Given the description of an element on the screen output the (x, y) to click on. 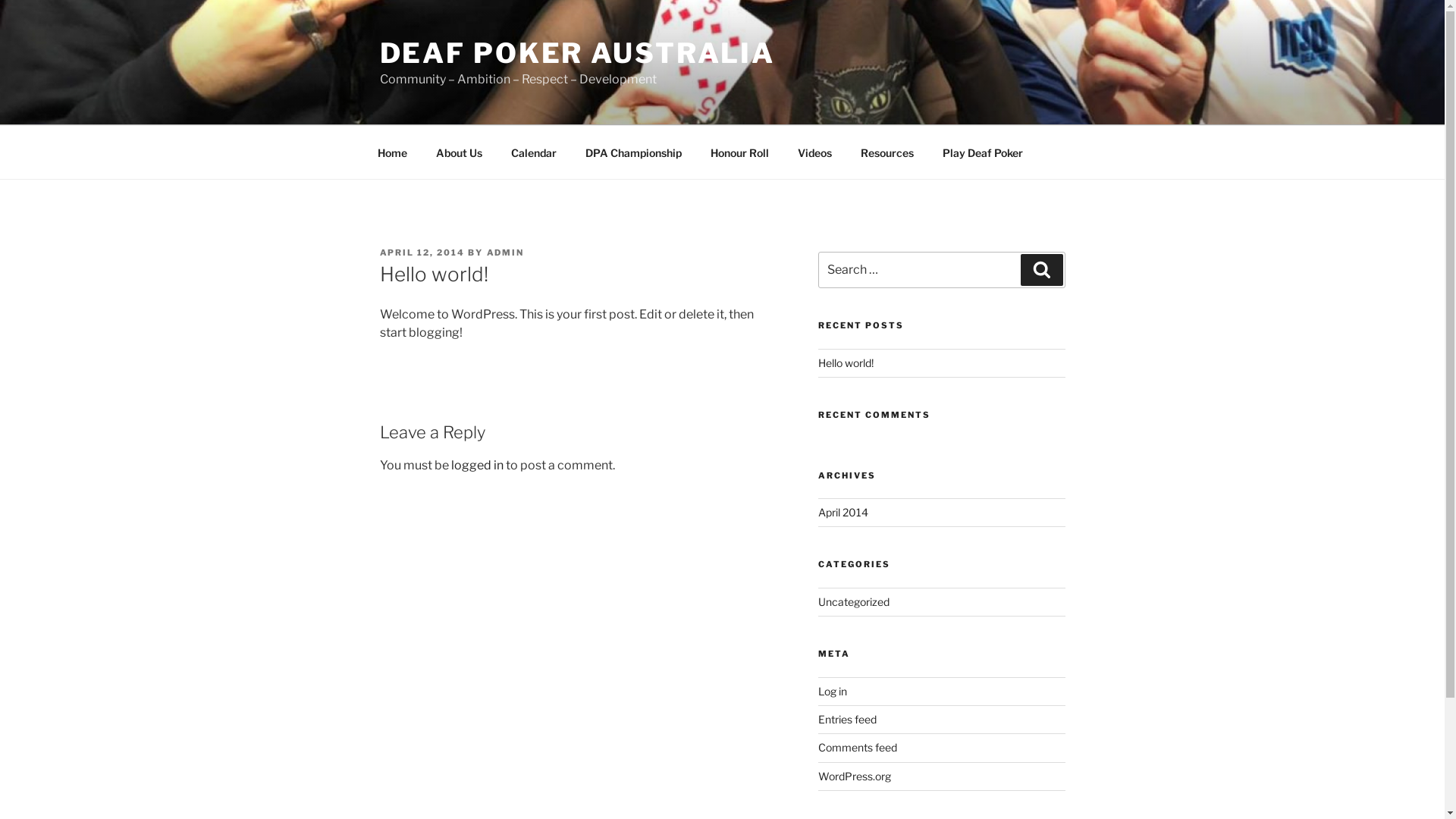
Play Deaf Poker Element type: text (982, 151)
DPA Championship Element type: text (632, 151)
Comments feed Element type: text (857, 746)
Home Element type: text (392, 151)
ADMIN Element type: text (505, 252)
April 2014 Element type: text (843, 511)
Hello world! Element type: text (845, 362)
Log in Element type: text (832, 690)
WordPress.org Element type: text (854, 775)
Uncategorized Element type: text (853, 601)
About Us Element type: text (459, 151)
Videos Element type: text (814, 151)
Search Element type: text (1041, 269)
logged in Element type: text (476, 465)
Entries feed Element type: text (847, 718)
Calendar Element type: text (533, 151)
Resources Element type: text (887, 151)
Honour Roll Element type: text (739, 151)
DEAF POKER AUSTRALIA Element type: text (577, 52)
APRIL 12, 2014 Element type: text (421, 252)
